Given the description of an element on the screen output the (x, y) to click on. 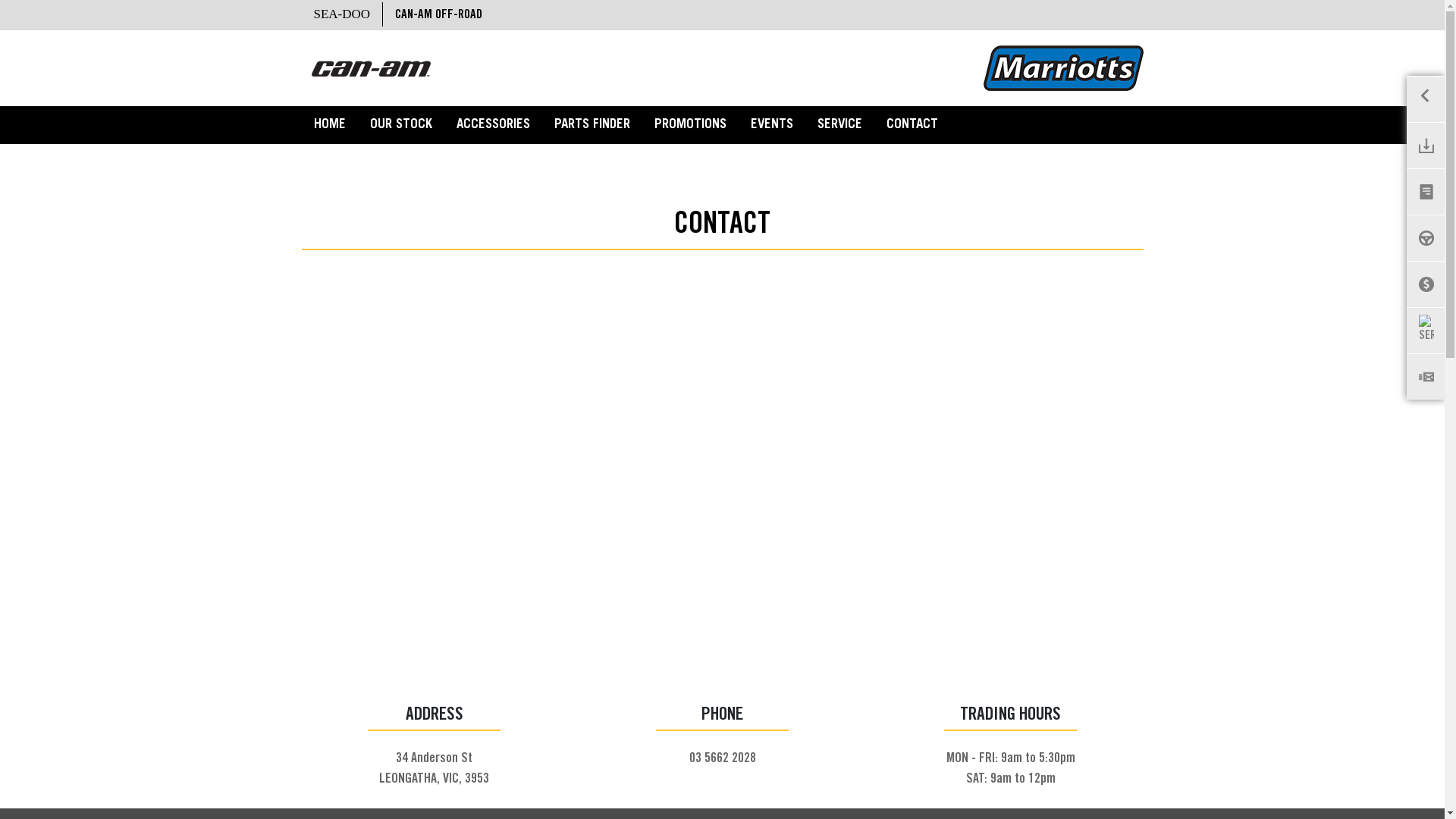
PROMOTIONS Element type: text (689, 125)
OUR STOCK Element type: text (400, 125)
CAN-AM OFF-ROAD Element type: text (438, 15)
PARTS FINDER Element type: text (591, 125)
EVENTS Element type: text (771, 125)
SERVICE Element type: text (839, 125)
HOME Element type: text (329, 125)
SEA-DOO Element type: text (341, 13)
ACCESSORIES Element type: text (493, 125)
CONTACT Element type: text (911, 125)
